Given the description of an element on the screen output the (x, y) to click on. 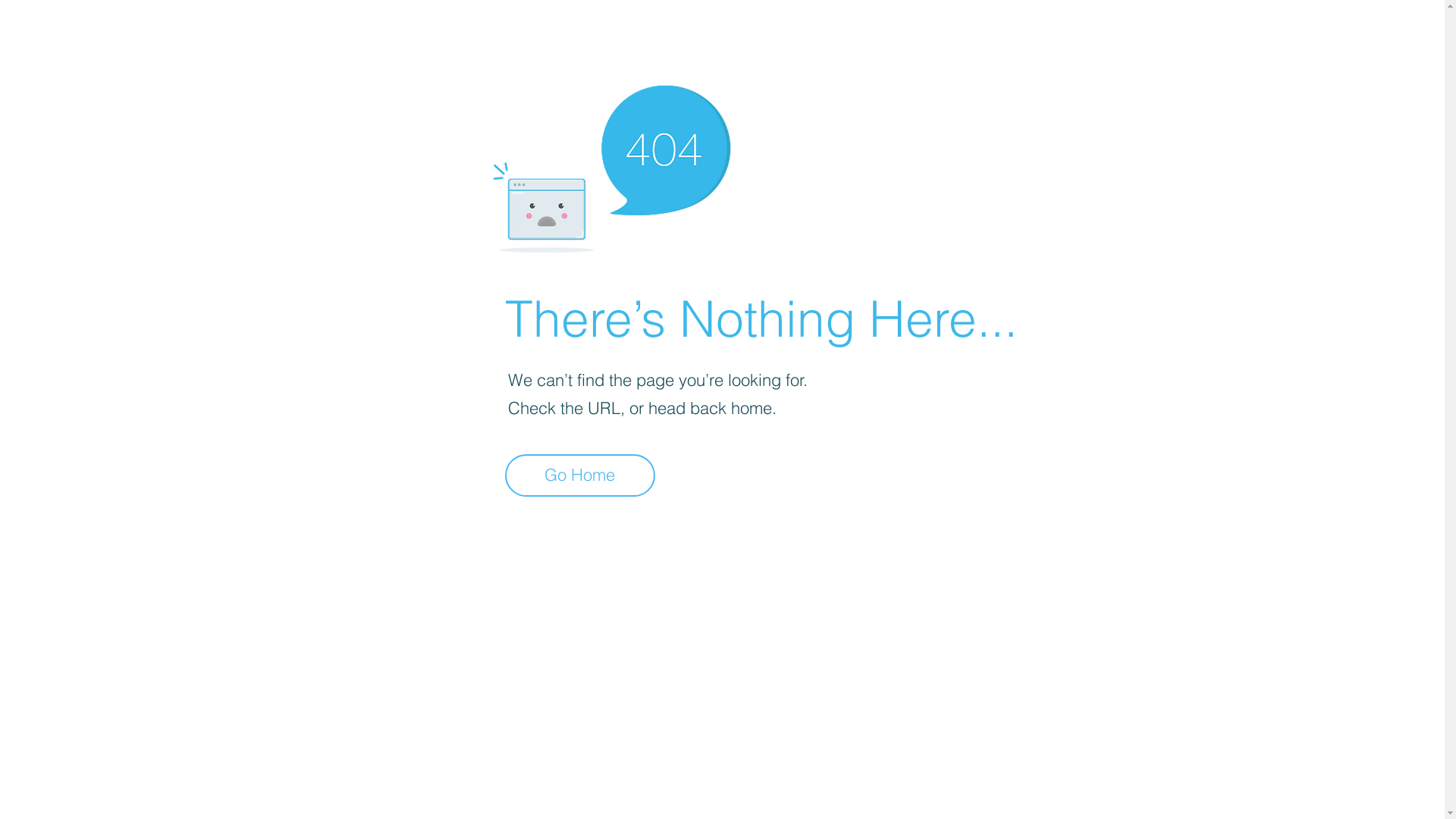
Go Home Element type: text (580, 475)
404-icon_2.png Element type: hover (610, 164)
